Given the description of an element on the screen output the (x, y) to click on. 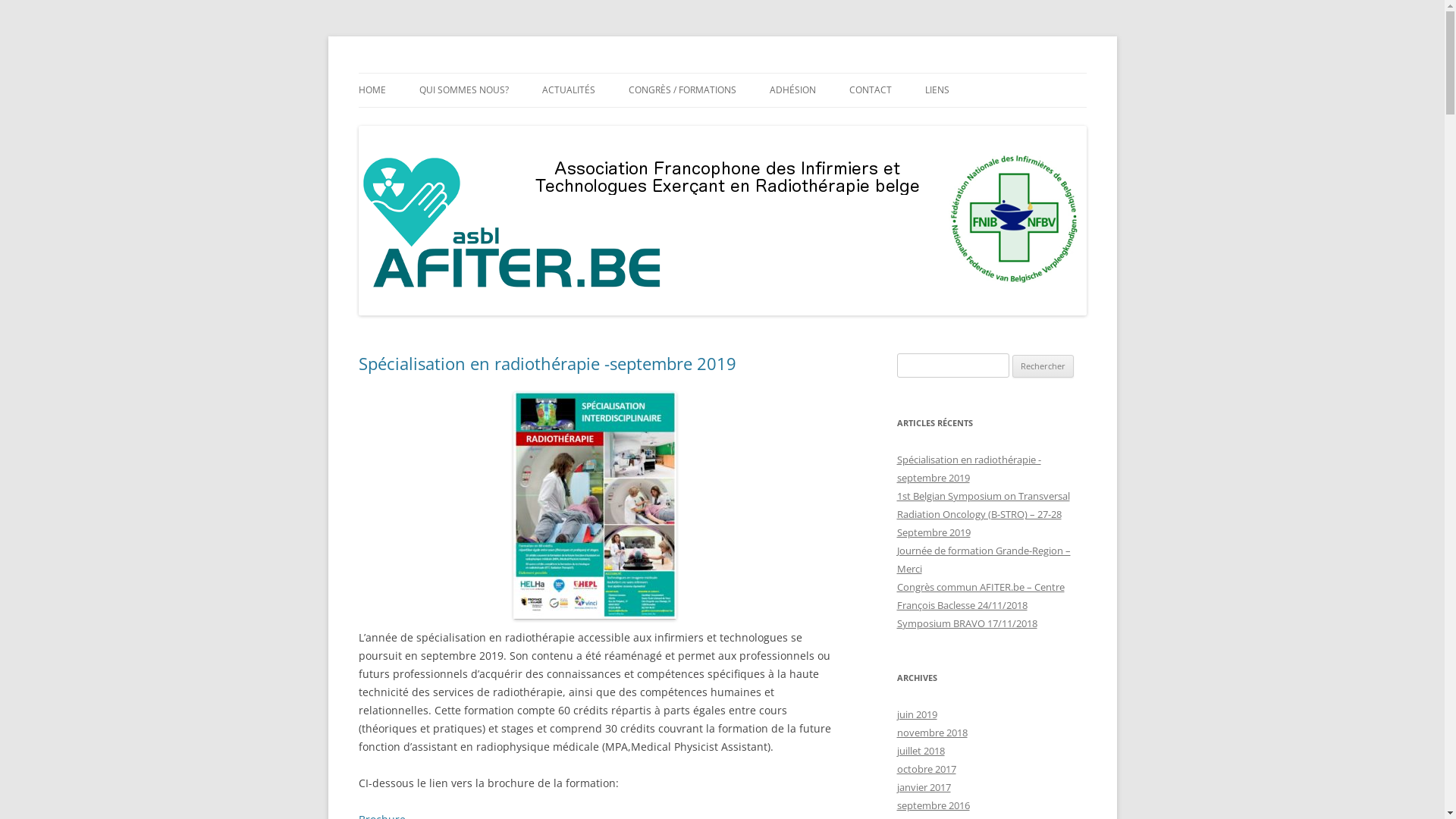
novembre 2018 Element type: text (931, 732)
CONTACT Element type: text (870, 89)
septembre 2016 Element type: text (932, 805)
octobre 2017 Element type: text (925, 768)
juillet 2018 Element type: text (920, 750)
QUI SOMMES NOUS? Element type: text (463, 89)
LIENS Element type: text (937, 89)
Symposium BRAVO 17/11/2018 Element type: text (966, 623)
POURQUOI DEVENIR MEMBRE? Element type: text (844, 122)
AFITER Element type: text (390, 72)
janvier 2017 Element type: text (923, 786)
INTRODUCTION Element type: text (494, 122)
HOME Element type: text (371, 89)
Aller au contenu Element type: text (721, 72)
Rechercher Element type: text (1042, 365)
juin 2019 Element type: text (916, 714)
